Given the description of an element on the screen output the (x, y) to click on. 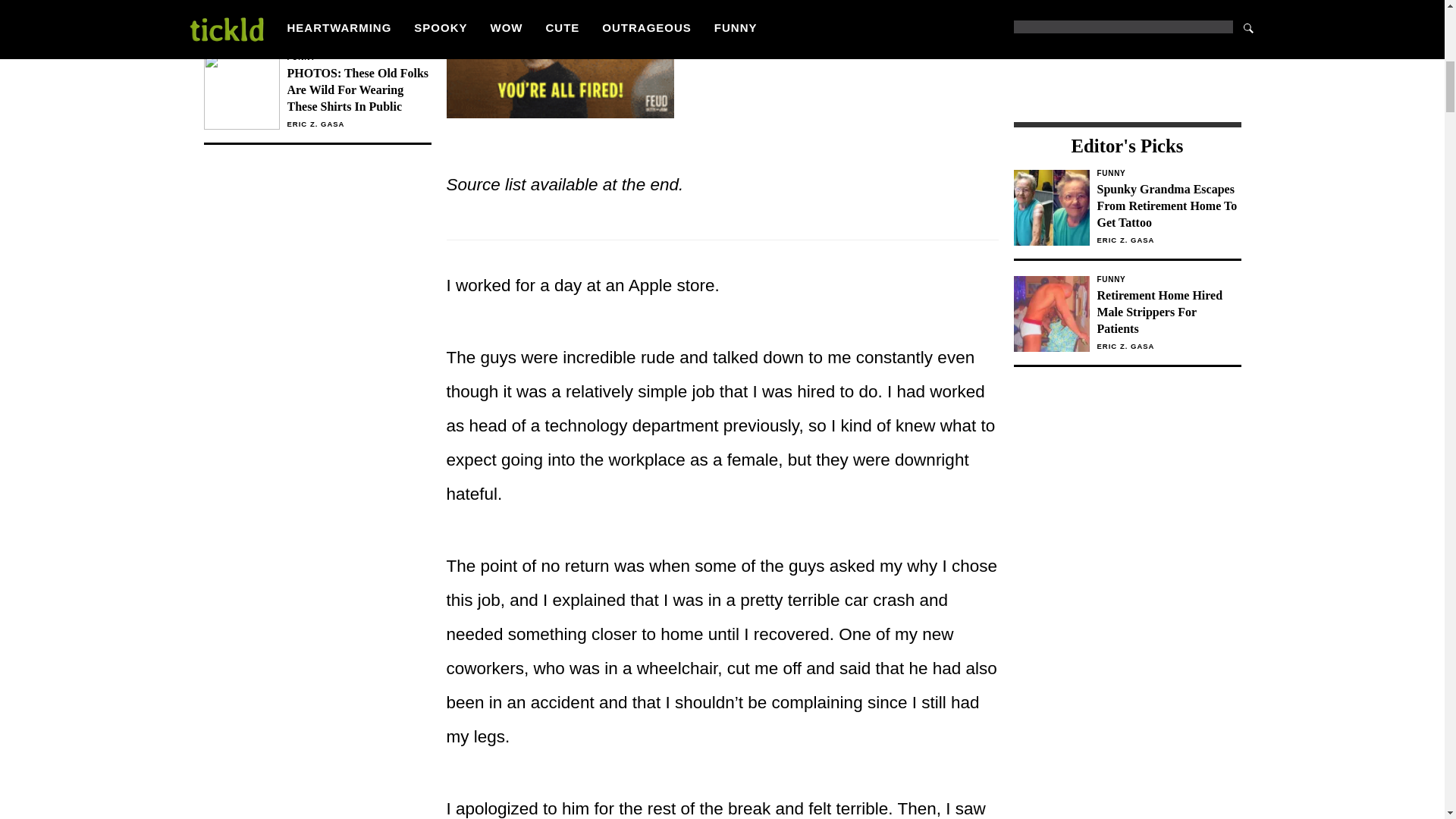
Retirement Home Hired Male Strippers For Patients (1168, 312)
Funny (1168, 173)
Funny (1168, 279)
Spunky Grandma Escapes From Retirement Home To Get Tattoo (1168, 205)
